Given the description of an element on the screen output the (x, y) to click on. 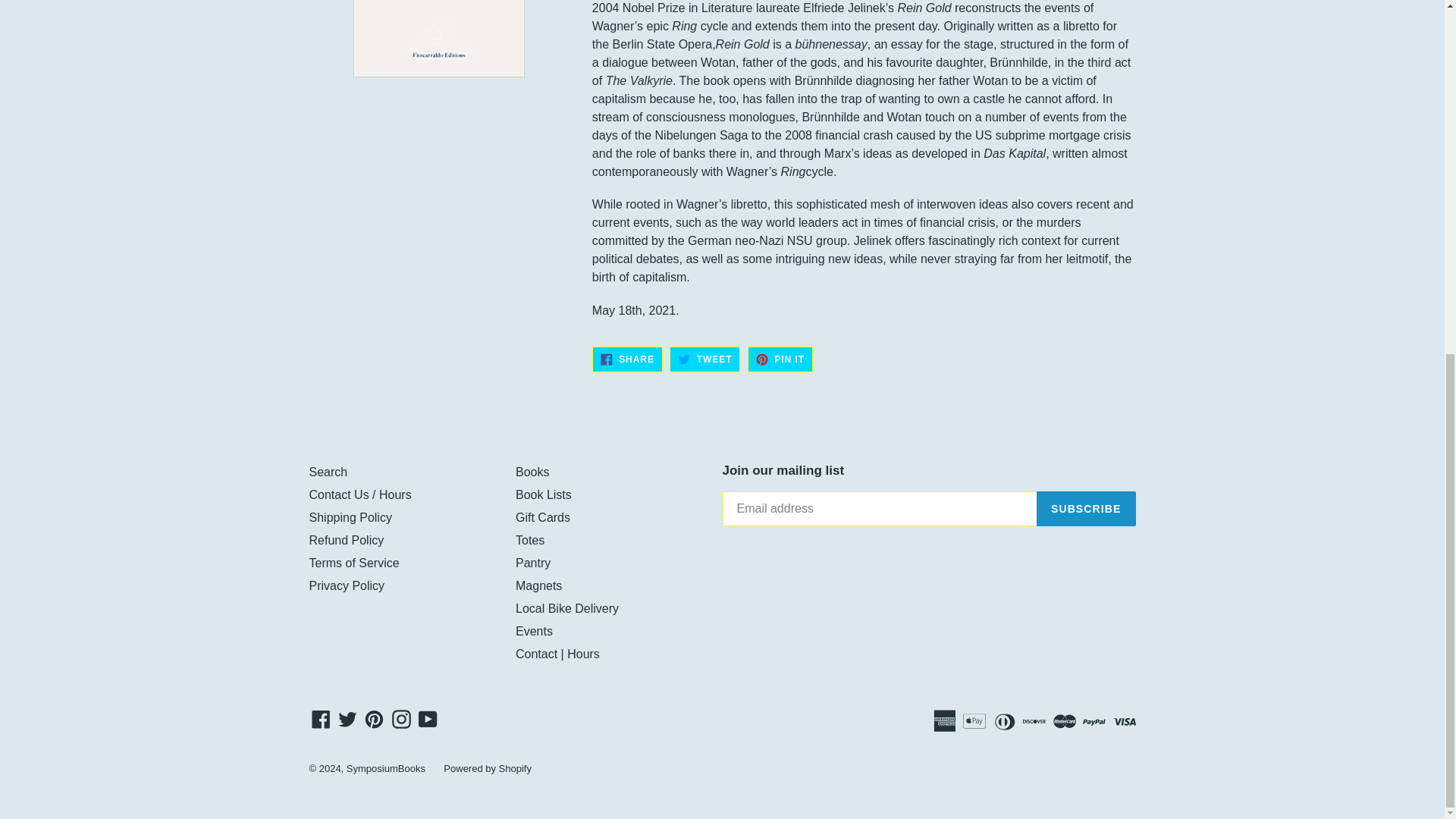
Tweet on Twitter (704, 358)
Pin on Pinterest (780, 358)
SymposiumBooks on Instagram (401, 719)
SymposiumBooks on Twitter (347, 719)
SymposiumBooks on Pinterest (373, 719)
SymposiumBooks on Facebook (320, 719)
SymposiumBooks on YouTube (427, 719)
Share on Facebook (627, 358)
